Given the description of an element on the screen output the (x, y) to click on. 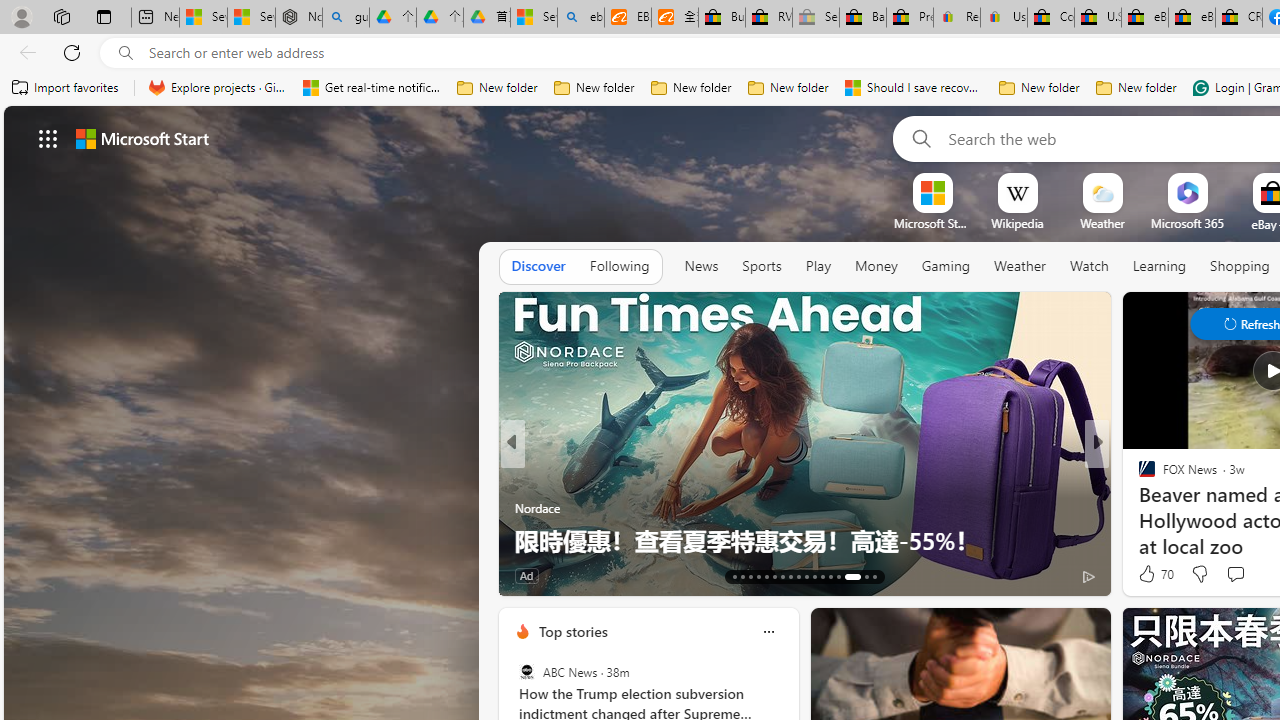
AutomationID: tab-34 (865, 576)
AutomationID: tab-16 (757, 576)
New folder (1136, 88)
Register: Create a personal eBay account (957, 17)
U.S. State Privacy Disclosures - eBay Inc. (1098, 17)
Start the conversation (1235, 574)
Money (875, 265)
eBay Inc. Reports Third Quarter 2023 Results (1191, 17)
Play (818, 267)
Sports (761, 265)
Weather (1019, 267)
